Given the description of an element on the screen output the (x, y) to click on. 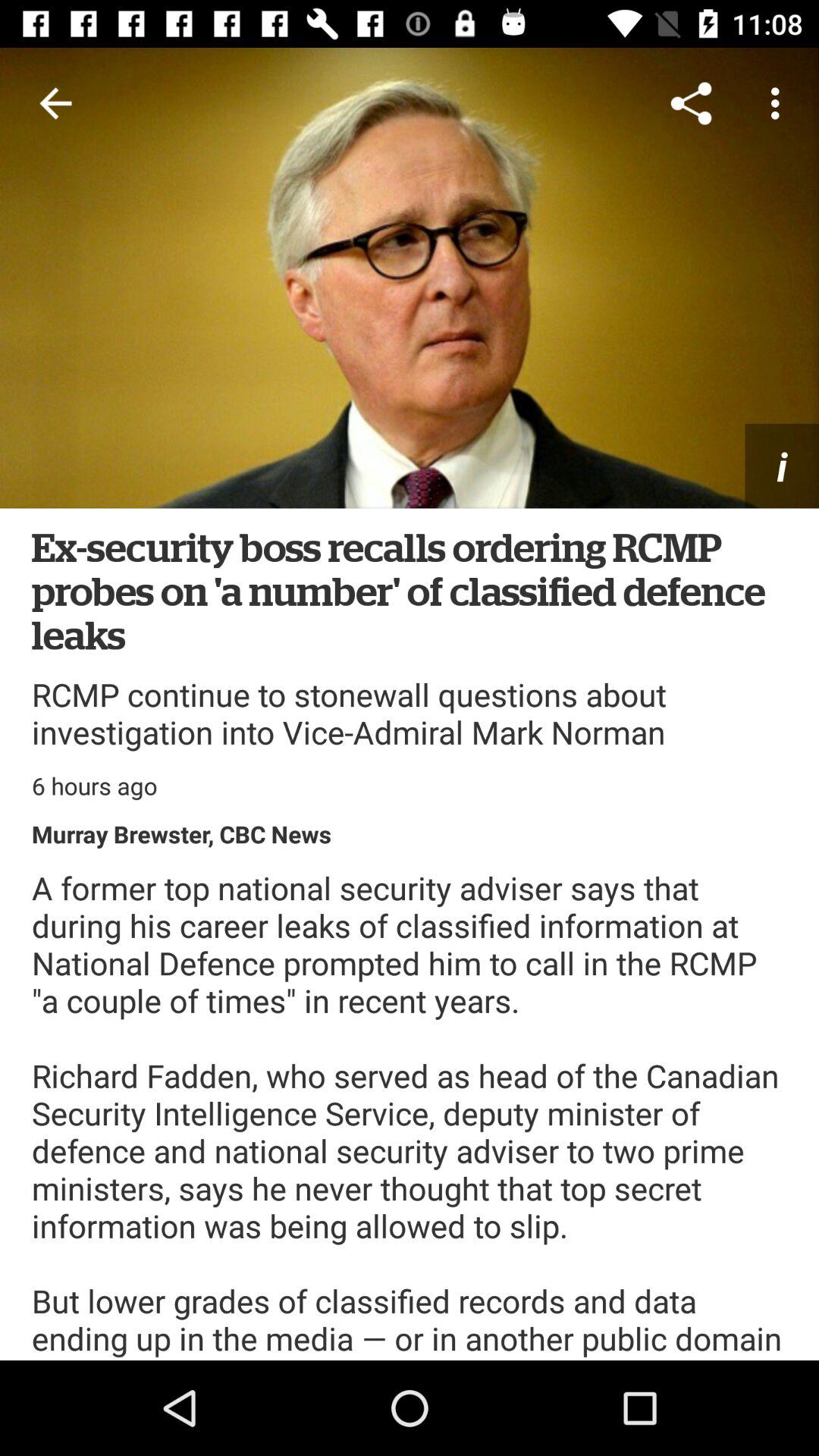
jump until i icon (782, 465)
